Given the description of an element on the screen output the (x, y) to click on. 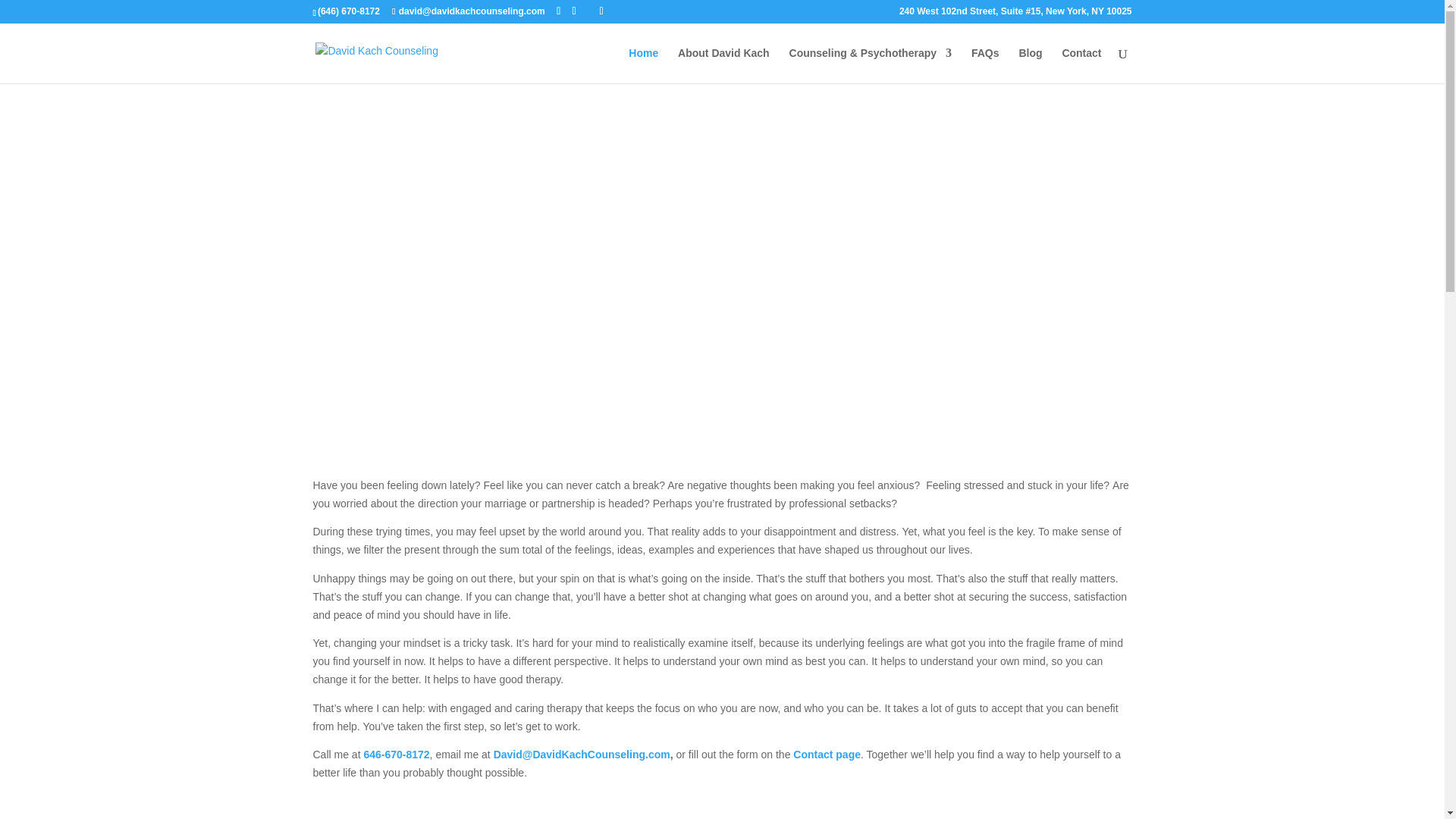
Contact (1080, 65)
646-670-8172 (395, 754)
Contact page (826, 754)
About David Kach (724, 65)
